Given the description of an element on the screen output the (x, y) to click on. 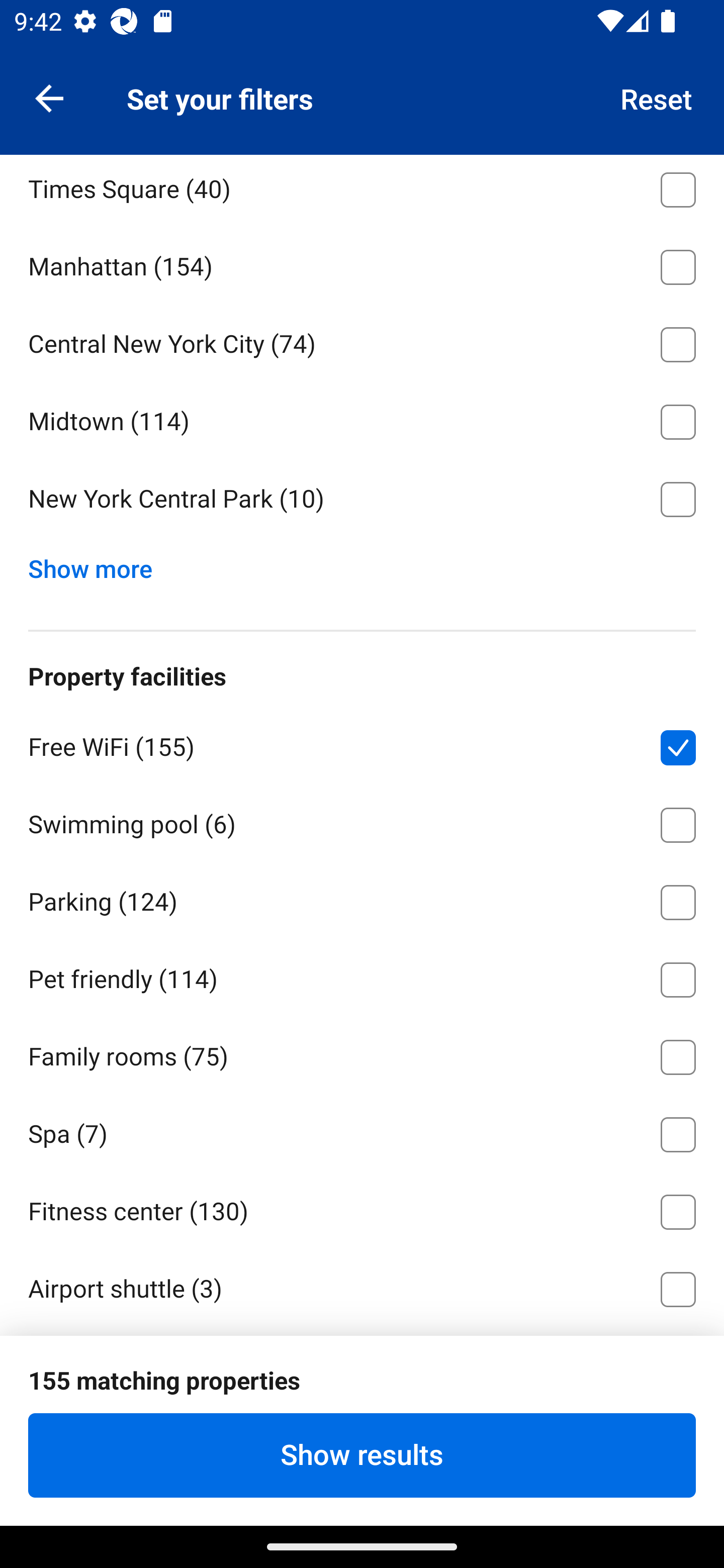
Navigate up (49, 97)
Reset (656, 97)
Times Square ⁦(40) (361, 190)
Manhattan ⁦(154) (361, 263)
Central New York City ⁦(74) (361, 340)
Midtown ⁦(114) (361, 418)
New York Central Park ⁦(10) (361, 499)
Show more (97, 565)
Free WiFi ⁦(155) (361, 743)
Swimming pool ⁦(6) (361, 821)
Parking ⁦(124) (361, 898)
Pet friendly ⁦(114) (361, 975)
Family rooms ⁦(75) (361, 1053)
Spa ⁦(7) (361, 1130)
Fitness center ⁦(130) (361, 1208)
Airport shuttle ⁦(3) (361, 1286)
Show results (361, 1454)
